Given the description of an element on the screen output the (x, y) to click on. 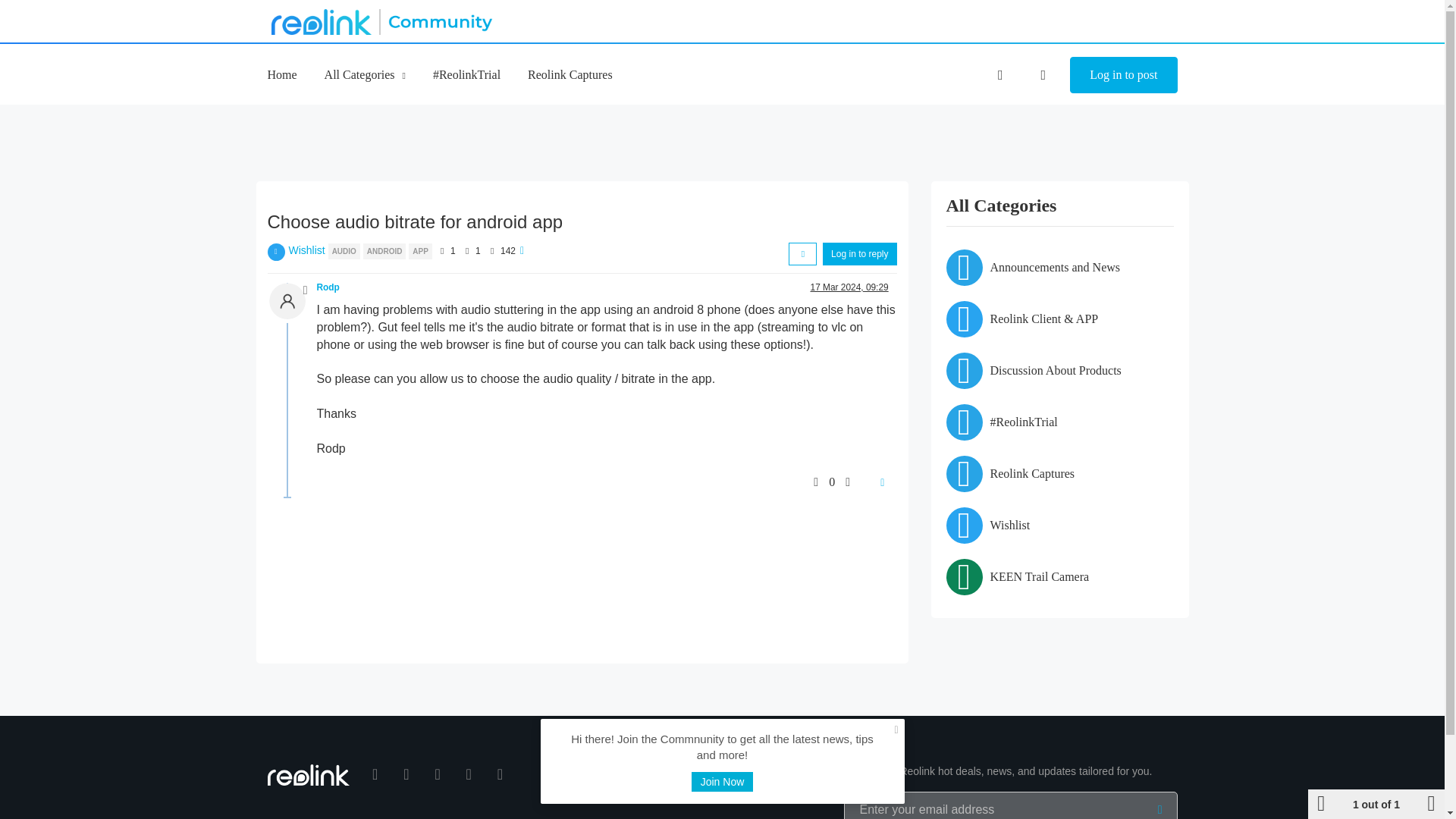
Log in to post (1123, 75)
AUDIO (345, 250)
Wishlist (306, 250)
All Categories (365, 74)
142 (507, 250)
Views (491, 250)
Posts (467, 250)
Reolink Captures (569, 74)
Home (281, 74)
17 Mar 2024, 09:29 (849, 286)
